Given the description of an element on the screen output the (x, y) to click on. 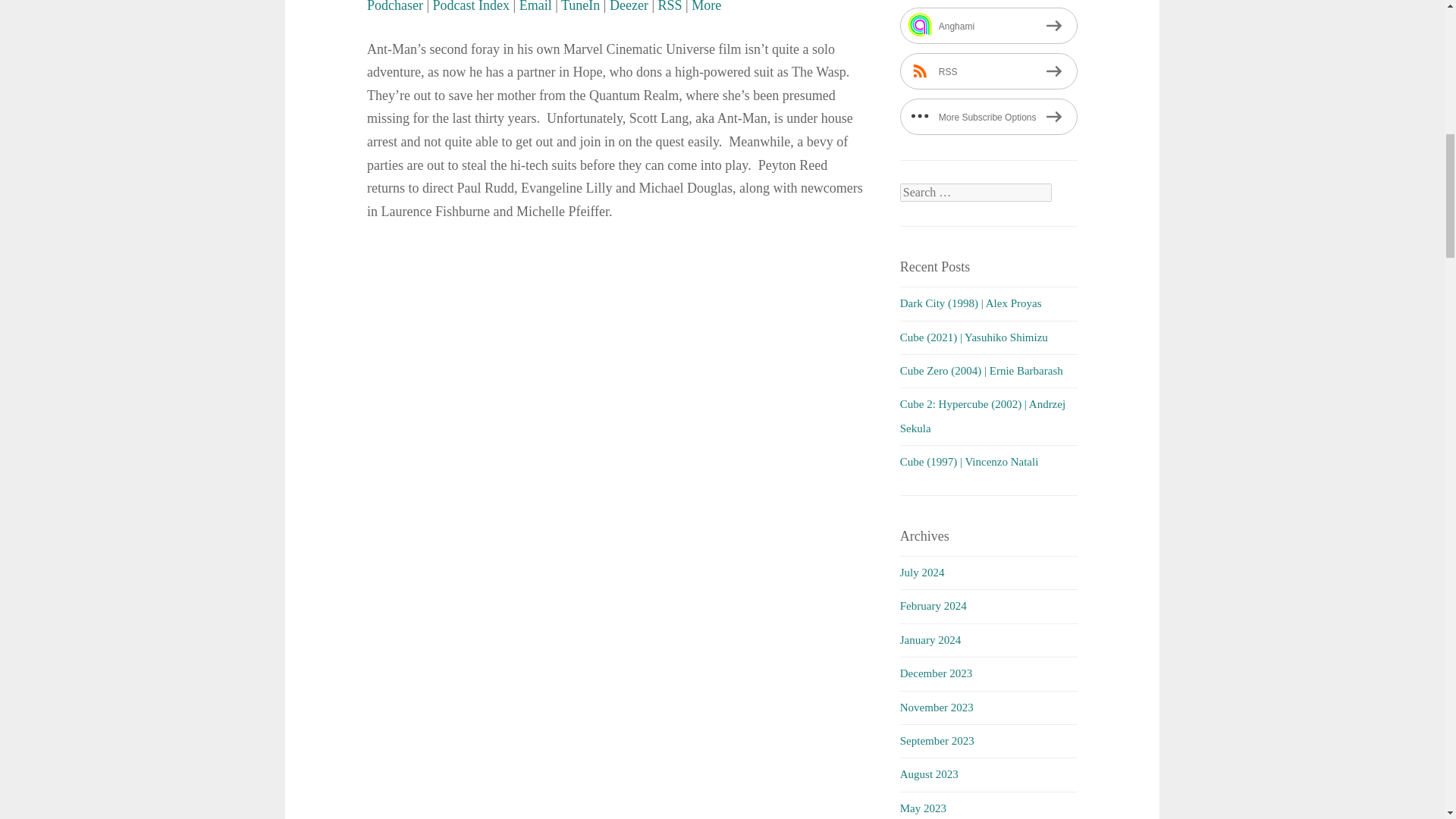
Subscribe on TuneIn (579, 6)
More Subscribe Options (988, 116)
More (705, 6)
Email (535, 6)
Subscribe on Podcast Index (470, 6)
RSS (670, 6)
Subscribe by Email (535, 6)
TuneIn (579, 6)
Anghami (988, 25)
Subscribe on Podchaser (394, 6)
RSS (988, 71)
Podchaser (394, 6)
Subscribe via RSS (670, 6)
Subscribe on Deezer (628, 6)
Podcast Index (470, 6)
